Given the description of an element on the screen output the (x, y) to click on. 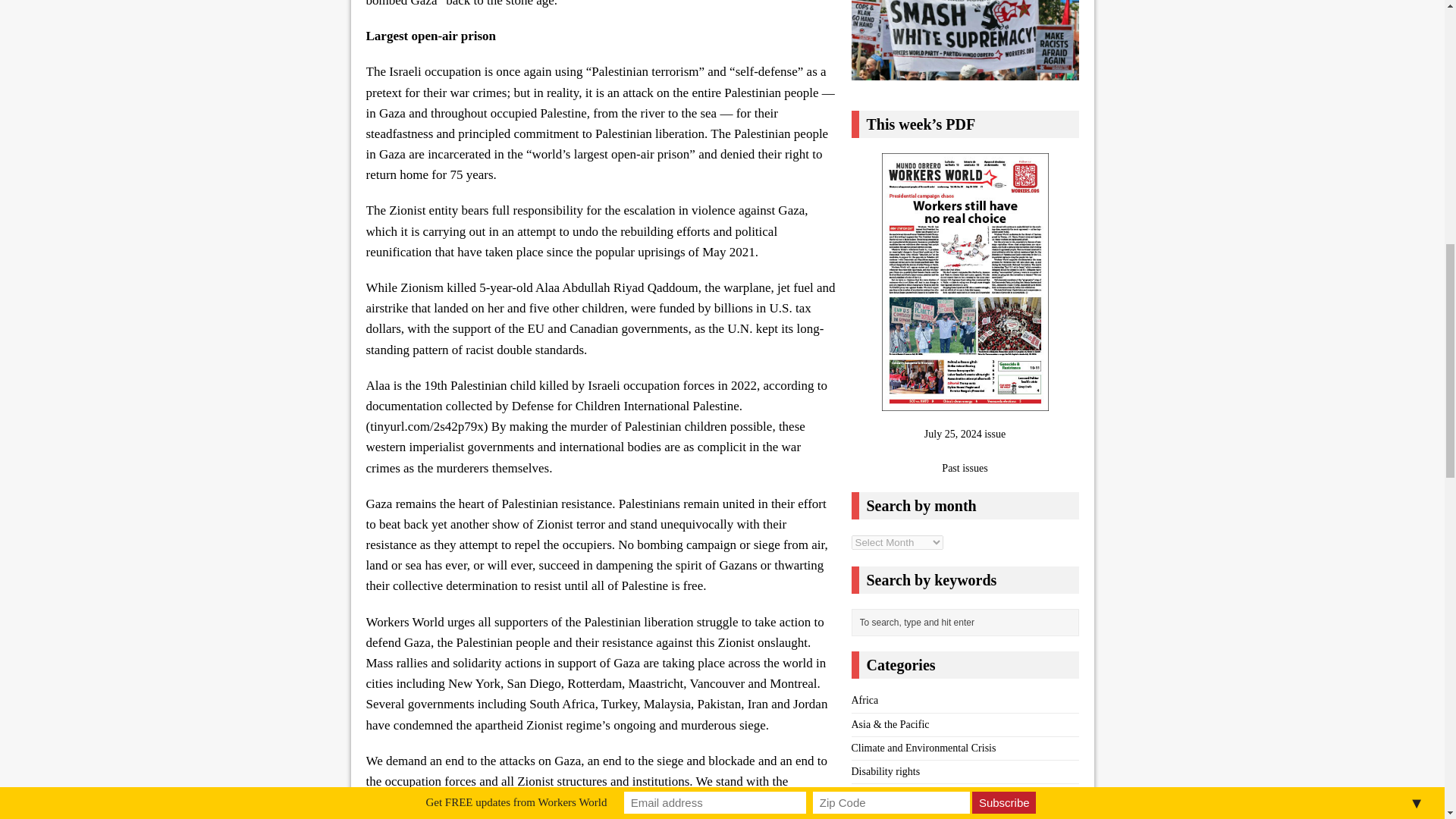
To search, type and hit enter (968, 622)
